Given the description of an element on the screen output the (x, y) to click on. 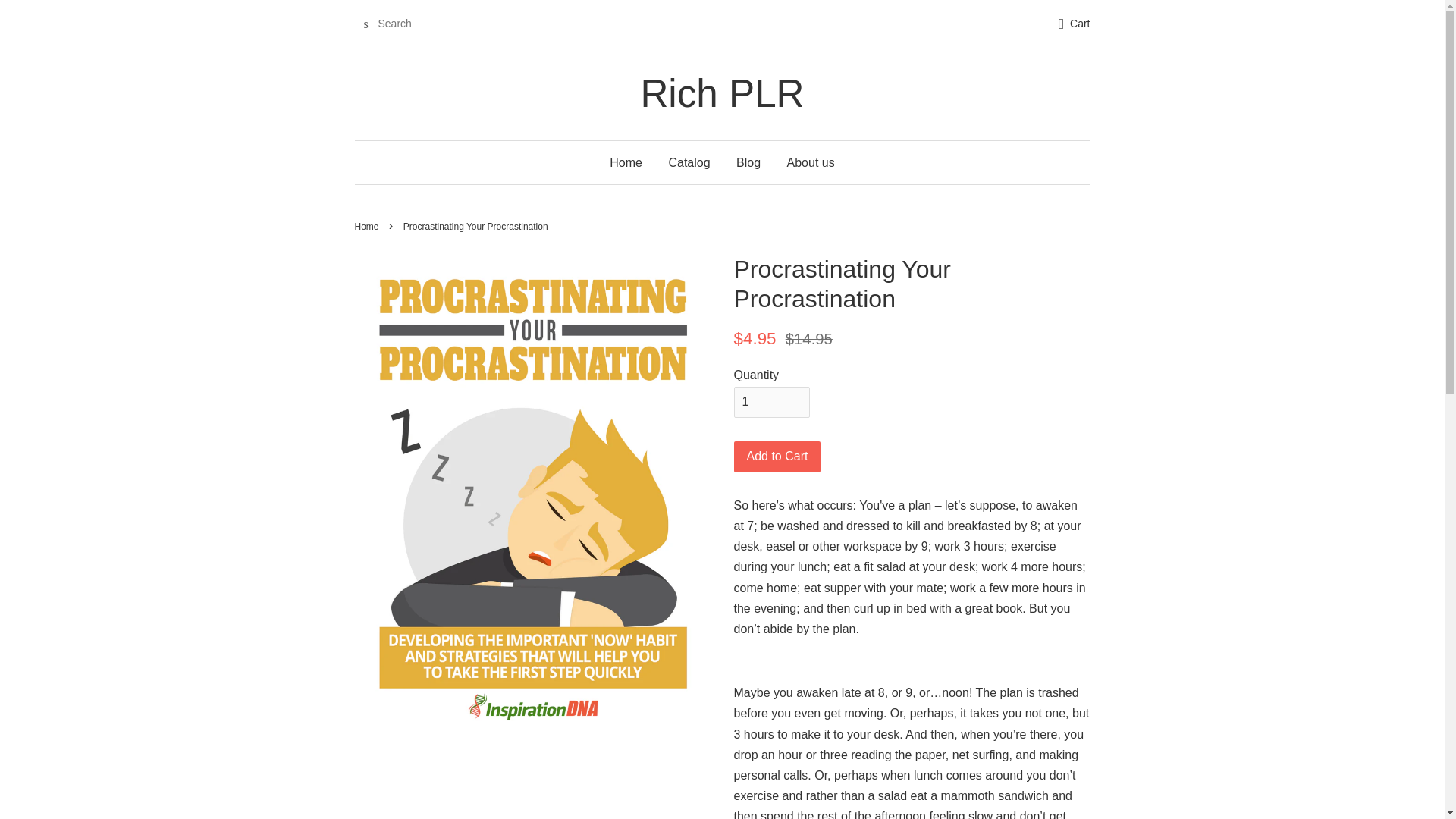
About us (805, 162)
1 (771, 401)
Search (366, 24)
Back to the frontpage (368, 226)
Cart (1079, 24)
Rich PLR (722, 93)
Add to Cart (777, 456)
Blog (748, 162)
Catalog (688, 162)
Home (368, 226)
Home (631, 162)
